Given the description of an element on the screen output the (x, y) to click on. 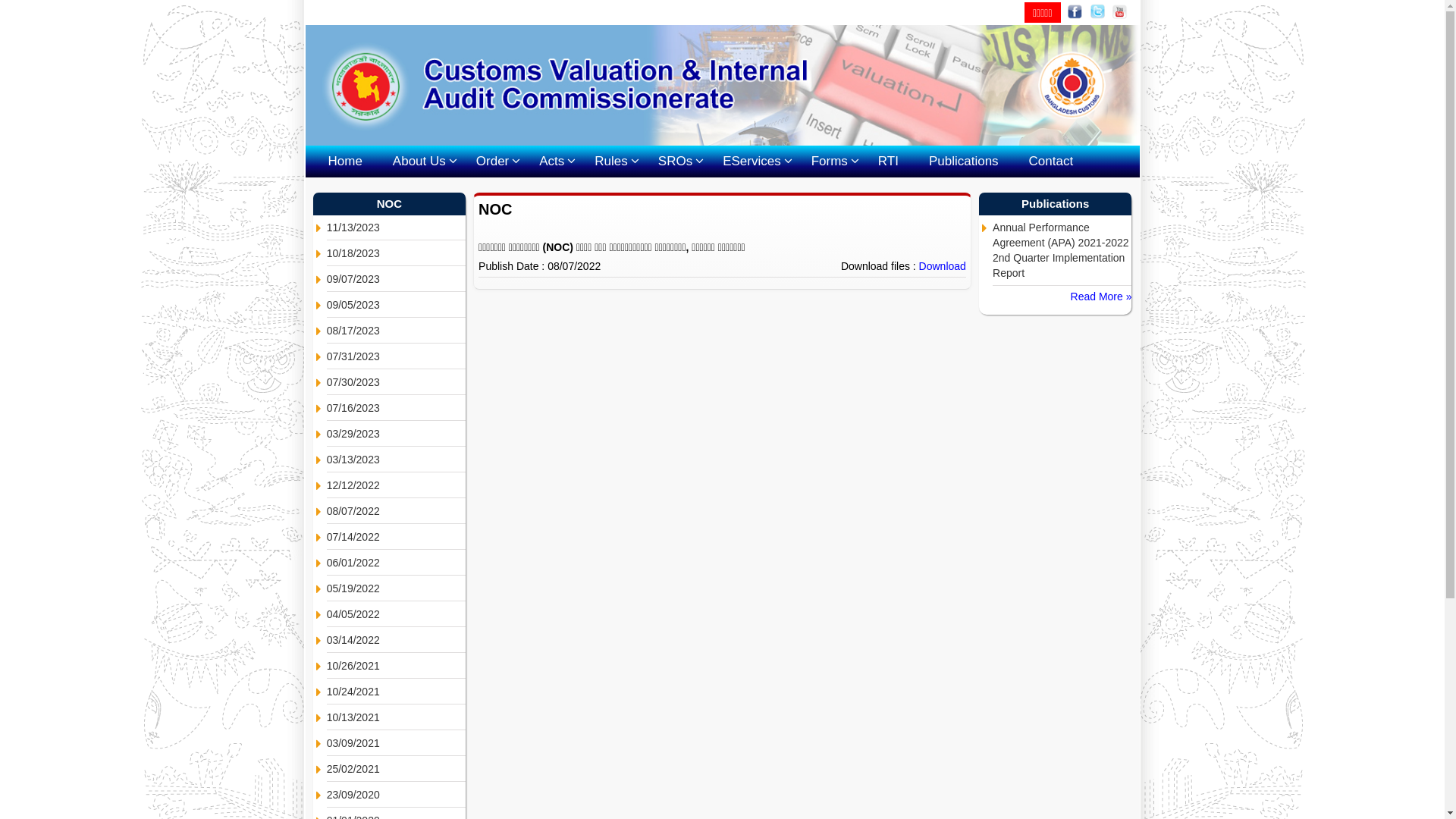
23/09/2020 Element type: text (395, 794)
06/01/2022 Element type: text (395, 562)
04/05/2022 Element type: text (395, 614)
12/12/2022 Element type: text (395, 485)
SROs Element type: text (675, 161)
09/05/2023 Element type: text (395, 304)
Acts Element type: text (551, 161)
03/09/2021 Element type: text (395, 743)
Contact Element type: text (1050, 161)
11/13/2023 Element type: text (395, 227)
08/17/2023 Element type: text (395, 330)
03/14/2022 Element type: text (395, 639)
09/07/2023 Element type: text (395, 278)
10/26/2021 Element type: text (395, 665)
Download Element type: text (942, 266)
03/13/2023 Element type: text (395, 459)
05/19/2022 Element type: text (395, 588)
07/14/2022 Element type: text (395, 536)
25/02/2021 Element type: text (395, 768)
Rules Element type: text (610, 161)
Home Element type: text (344, 161)
08/07/2022 Element type: text (395, 511)
10/24/2021 Element type: text (395, 691)
Order Element type: text (492, 161)
Forms Element type: text (829, 161)
03/29/2023 Element type: text (395, 433)
About Us Element type: text (419, 161)
Publications Element type: text (963, 161)
10/13/2021 Element type: text (395, 717)
Customs Valuation Element type: hover (721, 85)
RTI Element type: text (887, 161)
07/30/2023 Element type: text (395, 382)
EServices Element type: text (751, 161)
07/31/2023 Element type: text (395, 356)
07/16/2023 Element type: text (395, 407)
10/18/2023 Element type: text (395, 253)
